Given the description of an element on the screen output the (x, y) to click on. 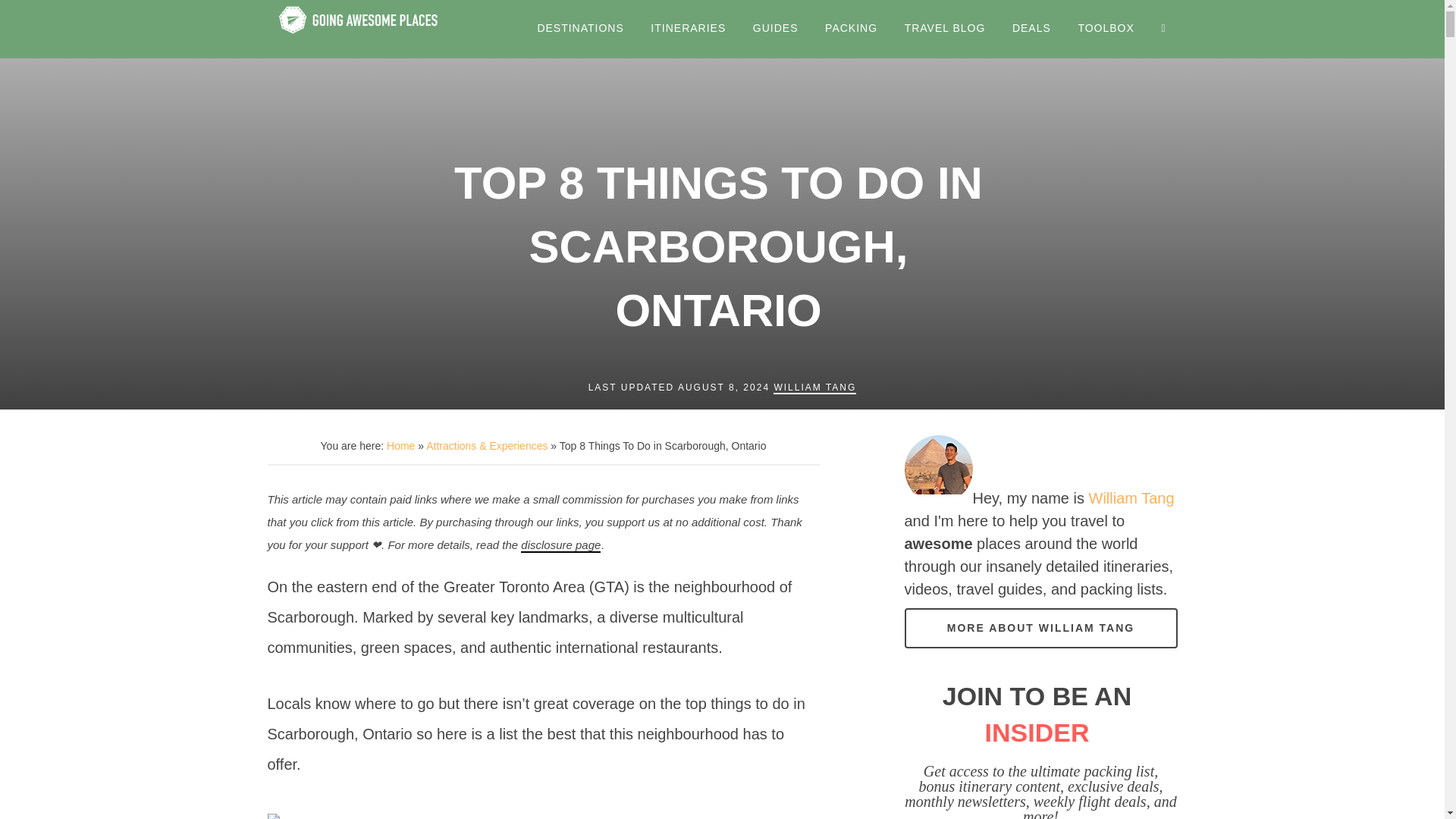
TOOLBOX (1104, 28)
Going Awesome Places (361, 28)
ITINERARIES (687, 28)
DESTINATIONS (579, 28)
WILLIAM TANG (814, 387)
PACKING (850, 28)
curated travel deals to save you money (1031, 28)
disclosure page (560, 545)
destinations covered by going awesome places (579, 28)
GUIDES (775, 28)
